Given the description of an element on the screen output the (x, y) to click on. 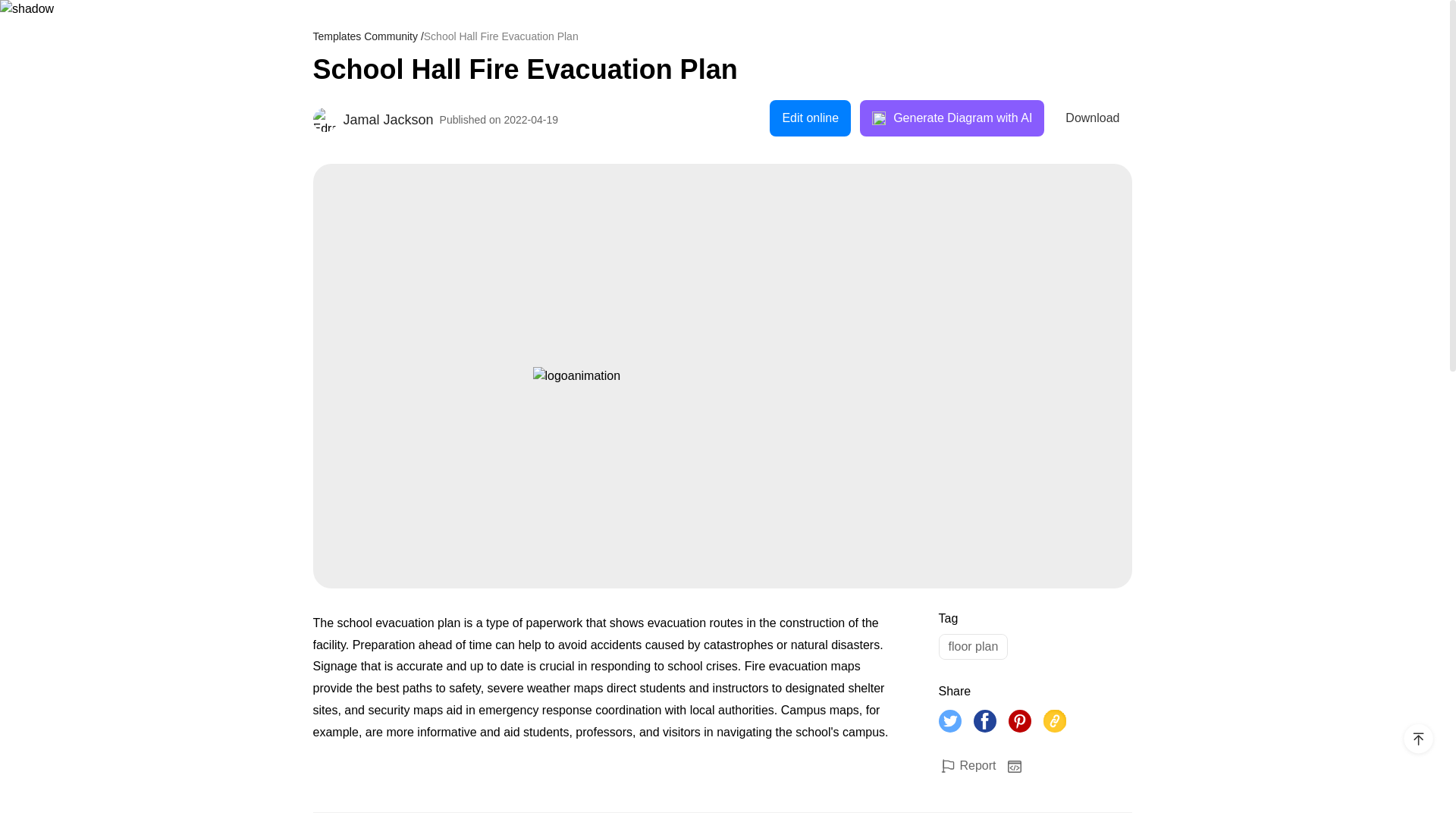
Download (1091, 117)
floor plan (974, 646)
School Hall Fire Evacuation Plan (722, 69)
